Given the description of an element on the screen output the (x, y) to click on. 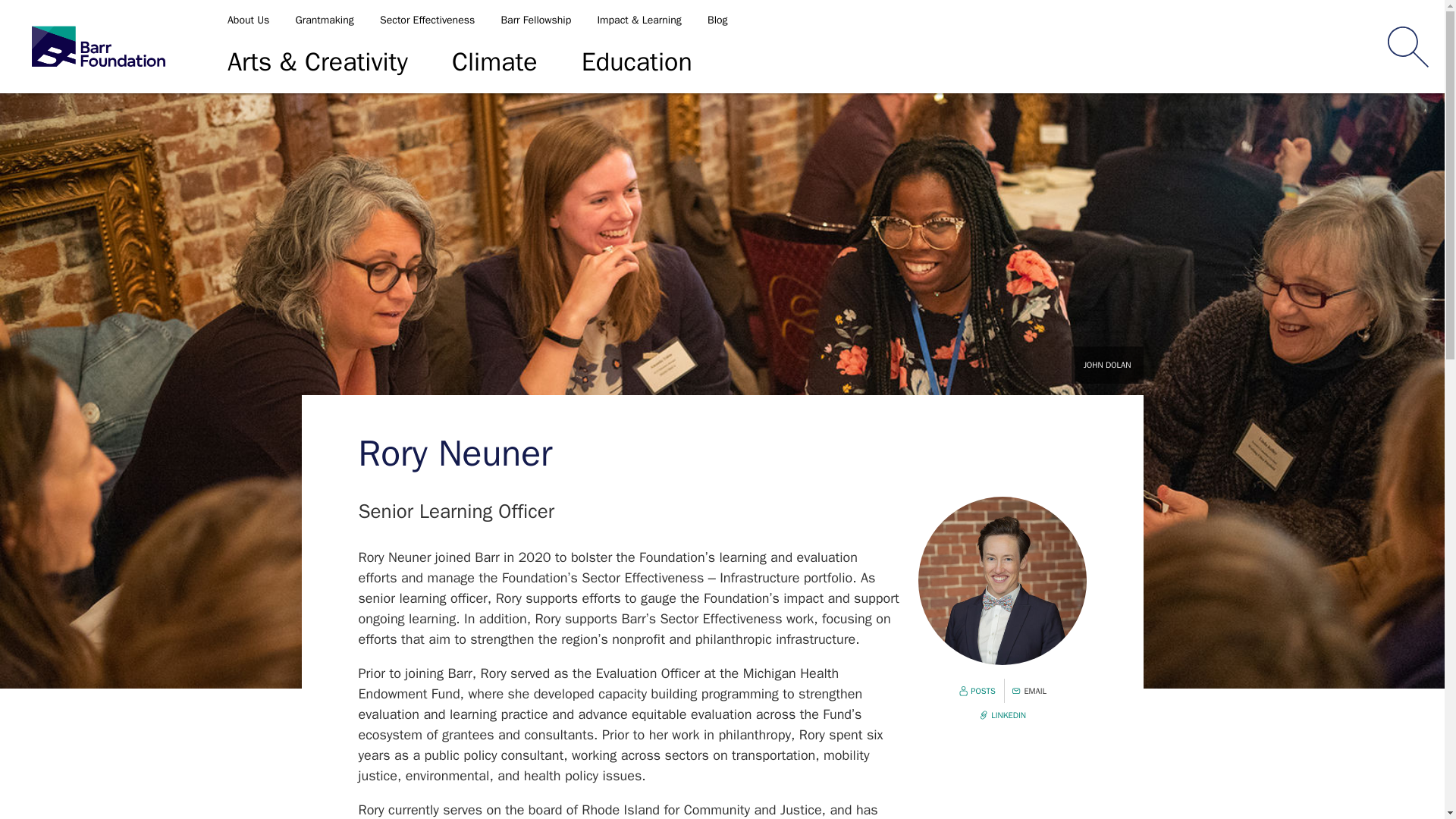
Sector Effectiveness (427, 20)
Climate (494, 62)
About Us (251, 20)
Barr Foundation homepage (98, 46)
JOHN DOLAN (1107, 364)
Education (636, 62)
Grantmaking (324, 20)
Barr Fellowship (535, 20)
LINKEDIN (1002, 715)
Blog (717, 20)
